Given the description of an element on the screen output the (x, y) to click on. 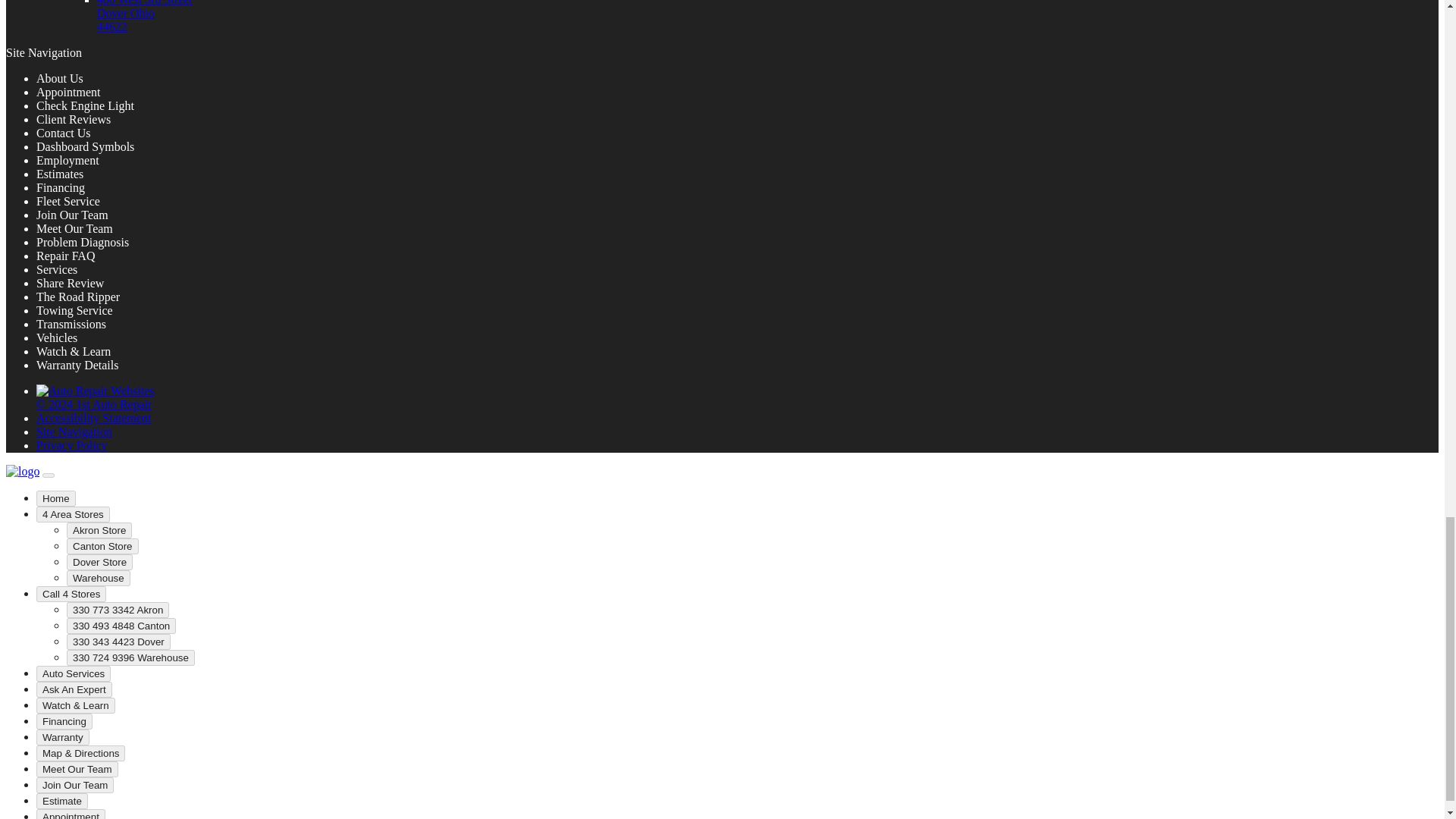
Auto Repair Websites (95, 397)
Accessibility Statement (93, 418)
Dover Transmission Shop (144, 16)
